Given the description of an element on the screen output the (x, y) to click on. 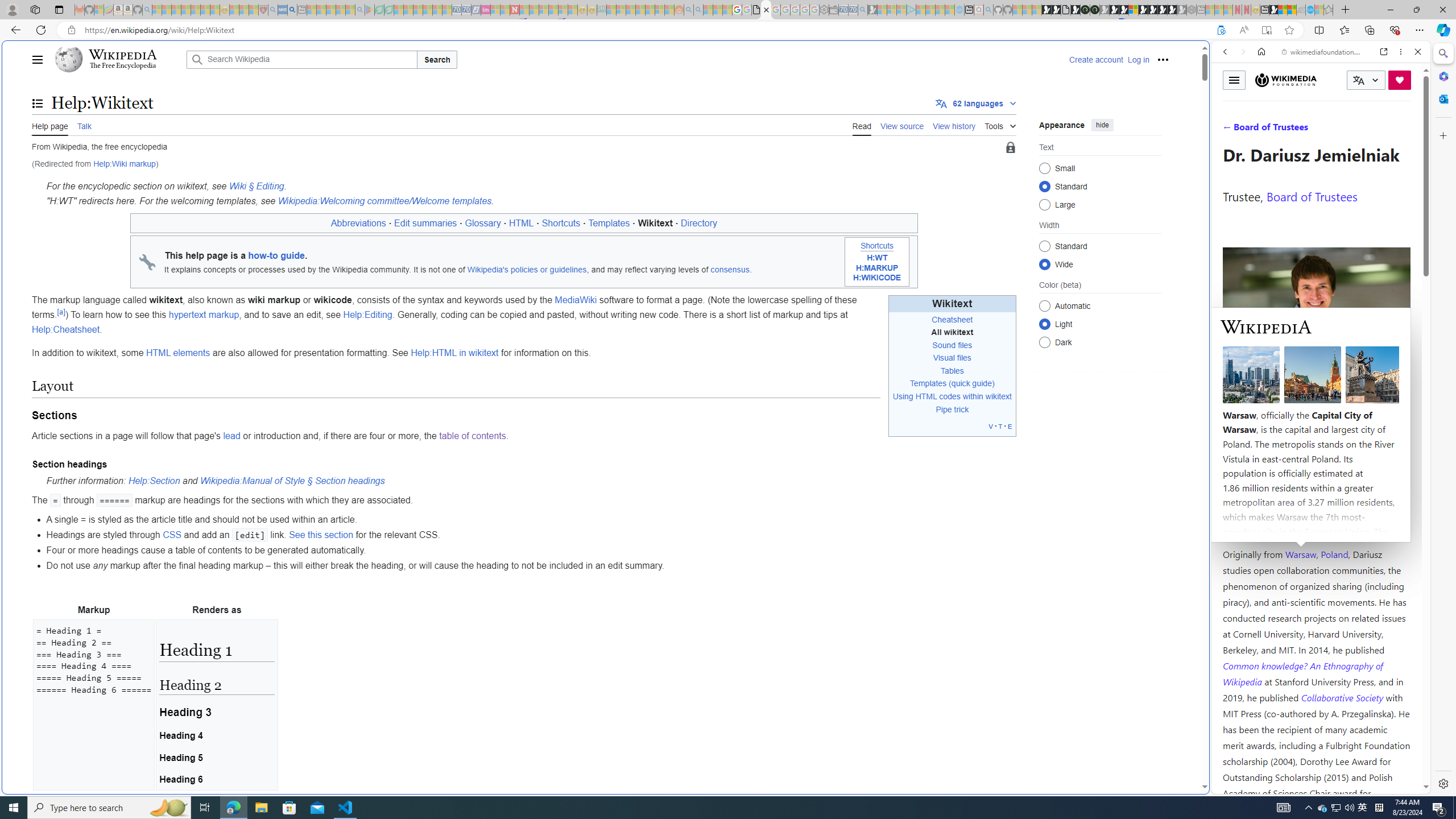
H:WT (877, 258)
e (1009, 425)
v (990, 425)
Dark (1044, 341)
HTML elements (178, 353)
Small (1044, 167)
Help page (50, 124)
Edit summaries (425, 222)
